Given the description of an element on the screen output the (x, y) to click on. 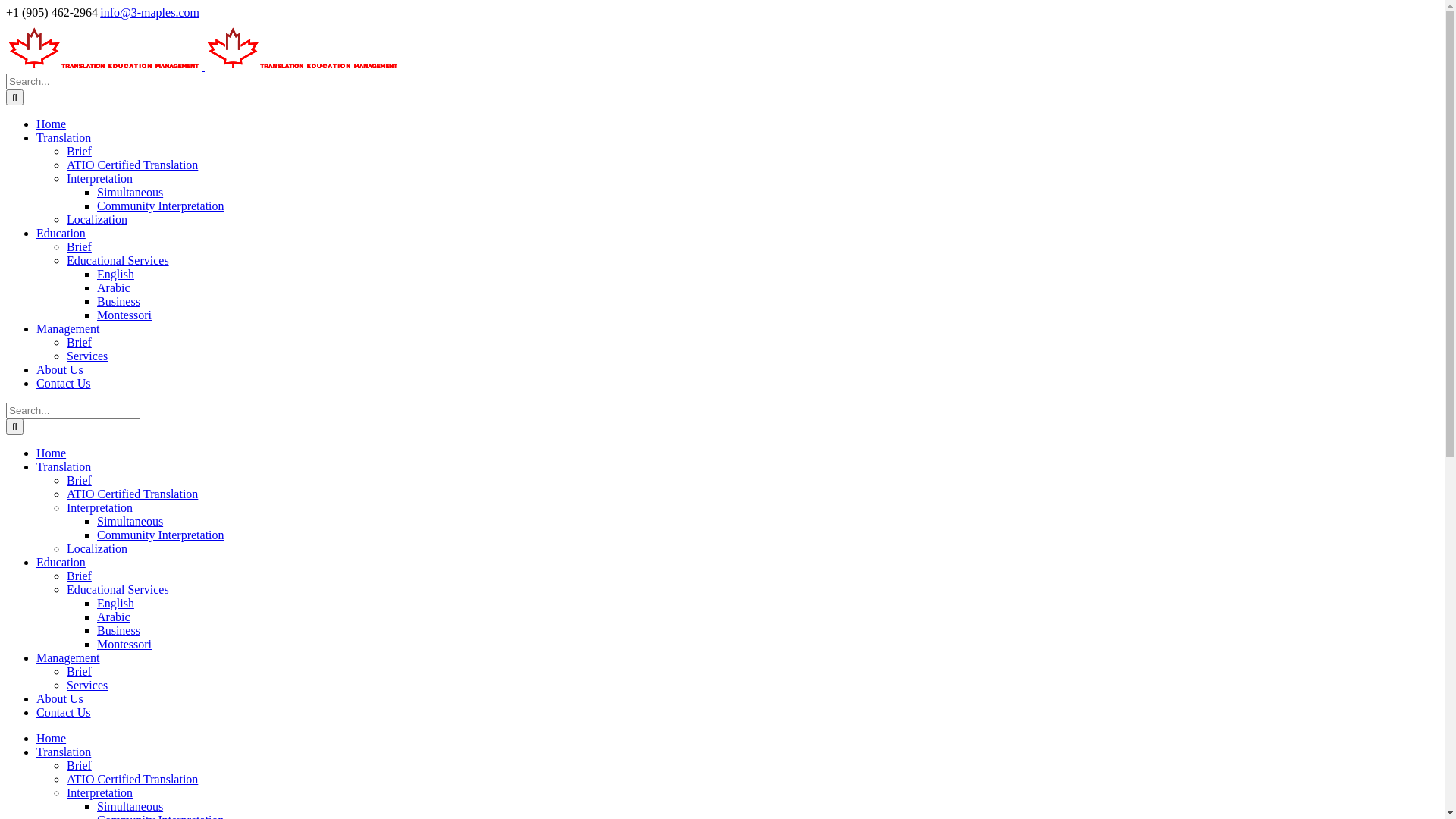
Interpretation Element type: text (99, 178)
Brief Element type: text (78, 150)
ATIO Certified Translation Element type: text (131, 493)
Brief Element type: text (78, 575)
English Element type: text (115, 602)
ATIO Certified Translation Element type: text (131, 164)
Community Interpretation Element type: text (160, 205)
Translation Element type: text (63, 137)
Brief Element type: text (78, 671)
Arabic Element type: text (113, 287)
Contact Us Element type: text (63, 382)
Translation Element type: text (63, 751)
Educational Services Element type: text (117, 589)
Business Element type: text (118, 630)
Services Element type: text (86, 684)
Brief Element type: text (78, 765)
Montessori Element type: text (124, 643)
Educational Services Element type: text (117, 260)
Simultaneous Element type: text (130, 520)
Services Element type: text (86, 355)
Simultaneous Element type: text (130, 806)
Arabic Element type: text (113, 616)
Localization Element type: text (96, 548)
Education Element type: text (60, 561)
Home Element type: text (50, 123)
Localization Element type: text (96, 219)
Simultaneous Element type: text (130, 191)
About Us Element type: text (59, 369)
Brief Element type: text (78, 341)
Brief Element type: text (78, 479)
Community Interpretation Element type: text (160, 534)
Montessori Element type: text (124, 314)
Management Element type: text (68, 328)
Business Element type: text (118, 300)
Skip to content Element type: text (5, 5)
About Us Element type: text (59, 698)
Home Element type: text (50, 737)
Interpretation Element type: text (99, 792)
Contact Us Element type: text (63, 712)
Interpretation Element type: text (99, 507)
Education Element type: text (60, 232)
info@3-maples.com Element type: text (149, 12)
English Element type: text (115, 273)
Brief Element type: text (78, 246)
ATIO Certified Translation Element type: text (131, 778)
Translation Element type: text (63, 466)
Home Element type: text (50, 452)
Management Element type: text (68, 657)
